Given the description of an element on the screen output the (x, y) to click on. 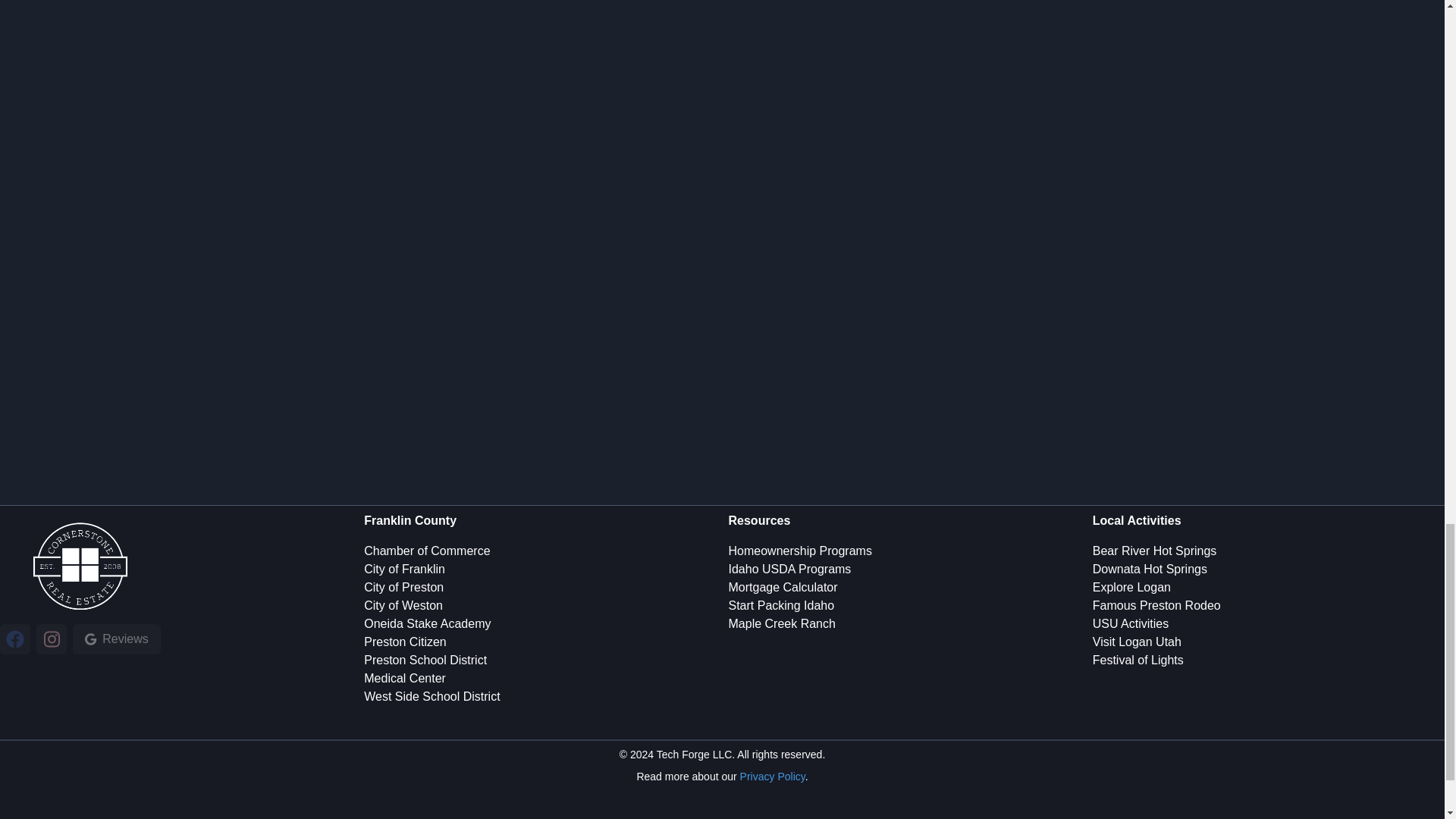
City of Weston (403, 604)
Preston Citizen (405, 641)
Chamber of Commerce (426, 550)
City of Preston (404, 586)
Homeownership Programs (799, 550)
Reviews (116, 639)
Idaho USDA Programs (789, 568)
City of Franklin (404, 568)
Preston School District (425, 659)
Oneida Stake Academy (427, 623)
West Side School District (431, 696)
Medical Center (404, 677)
